Given the description of an element on the screen output the (x, y) to click on. 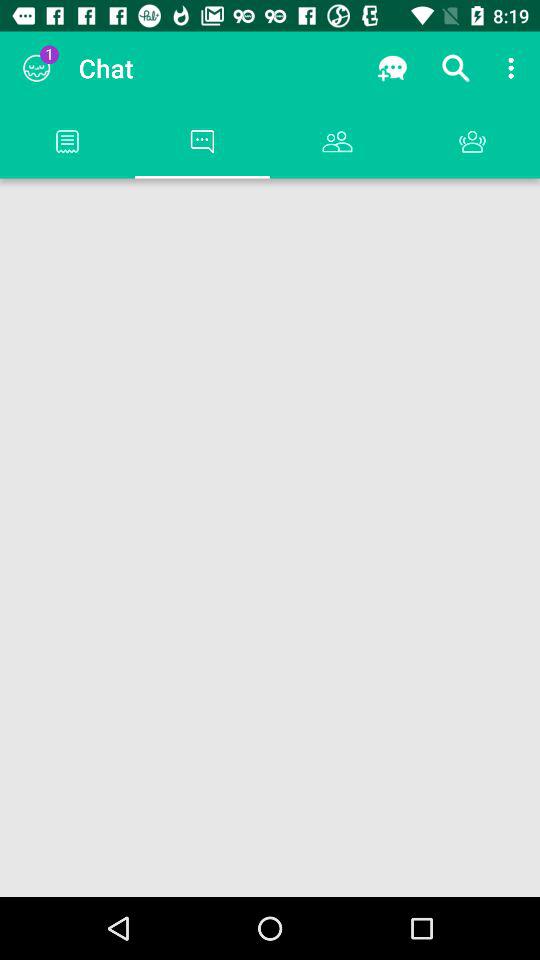
select the app next to the chat (392, 67)
